Given the description of an element on the screen output the (x, y) to click on. 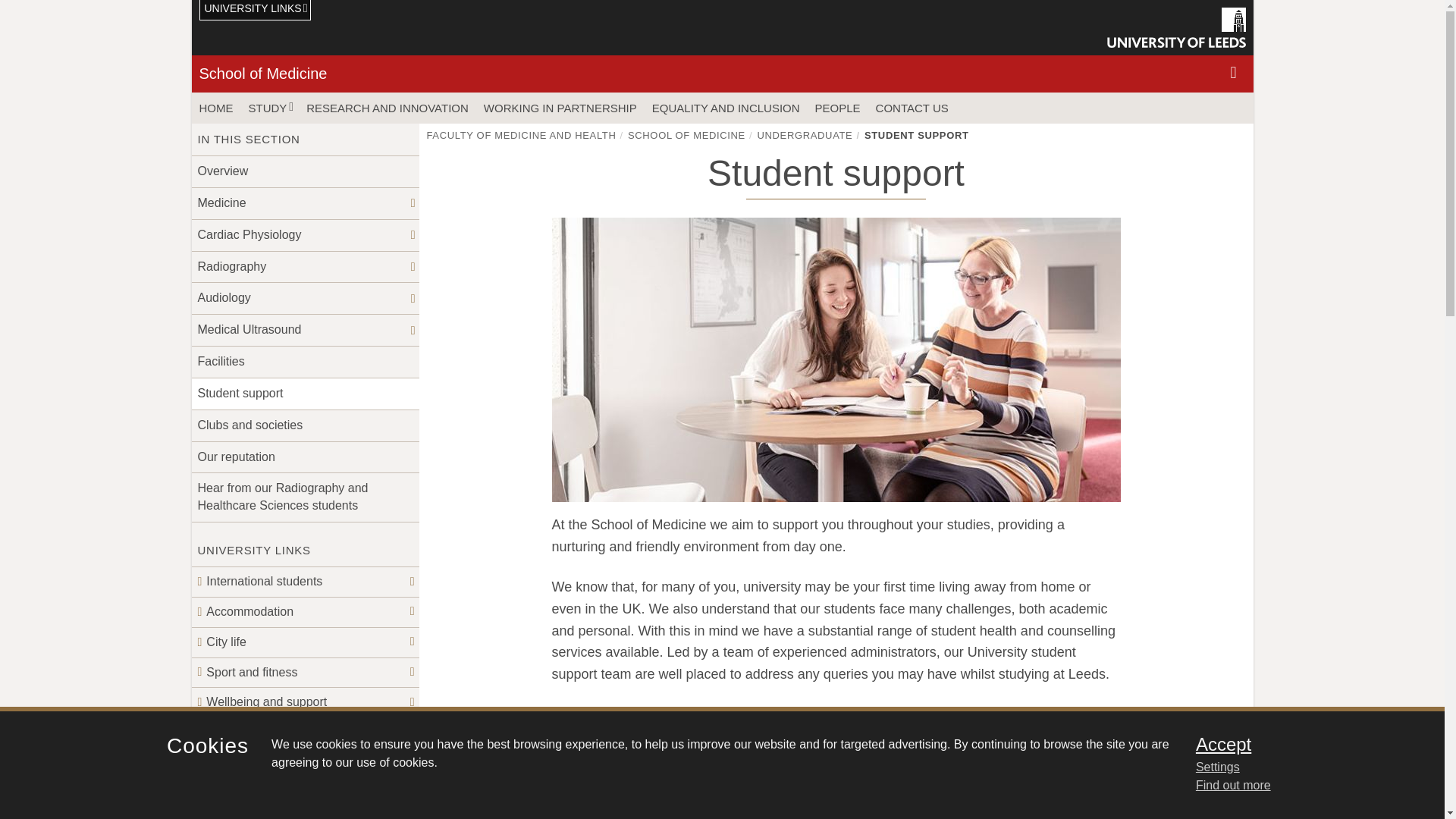
Find out more (1233, 784)
University of Leeds homepage (1176, 27)
UNIVERSITY LINKS (254, 10)
Accept (1300, 744)
Settings (1300, 767)
